Given the description of an element on the screen output the (x, y) to click on. 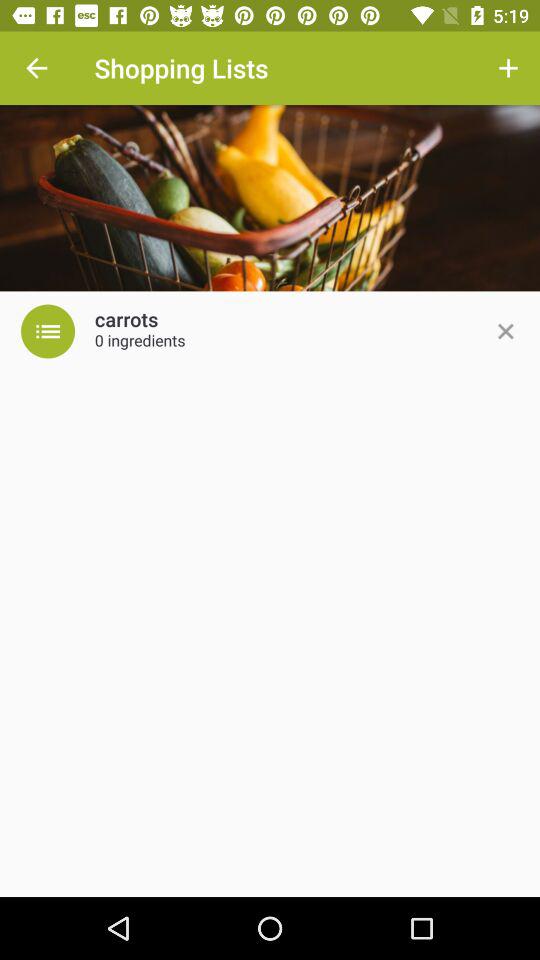
press the icon next to shopping lists item (36, 68)
